Given the description of an element on the screen output the (x, y) to click on. 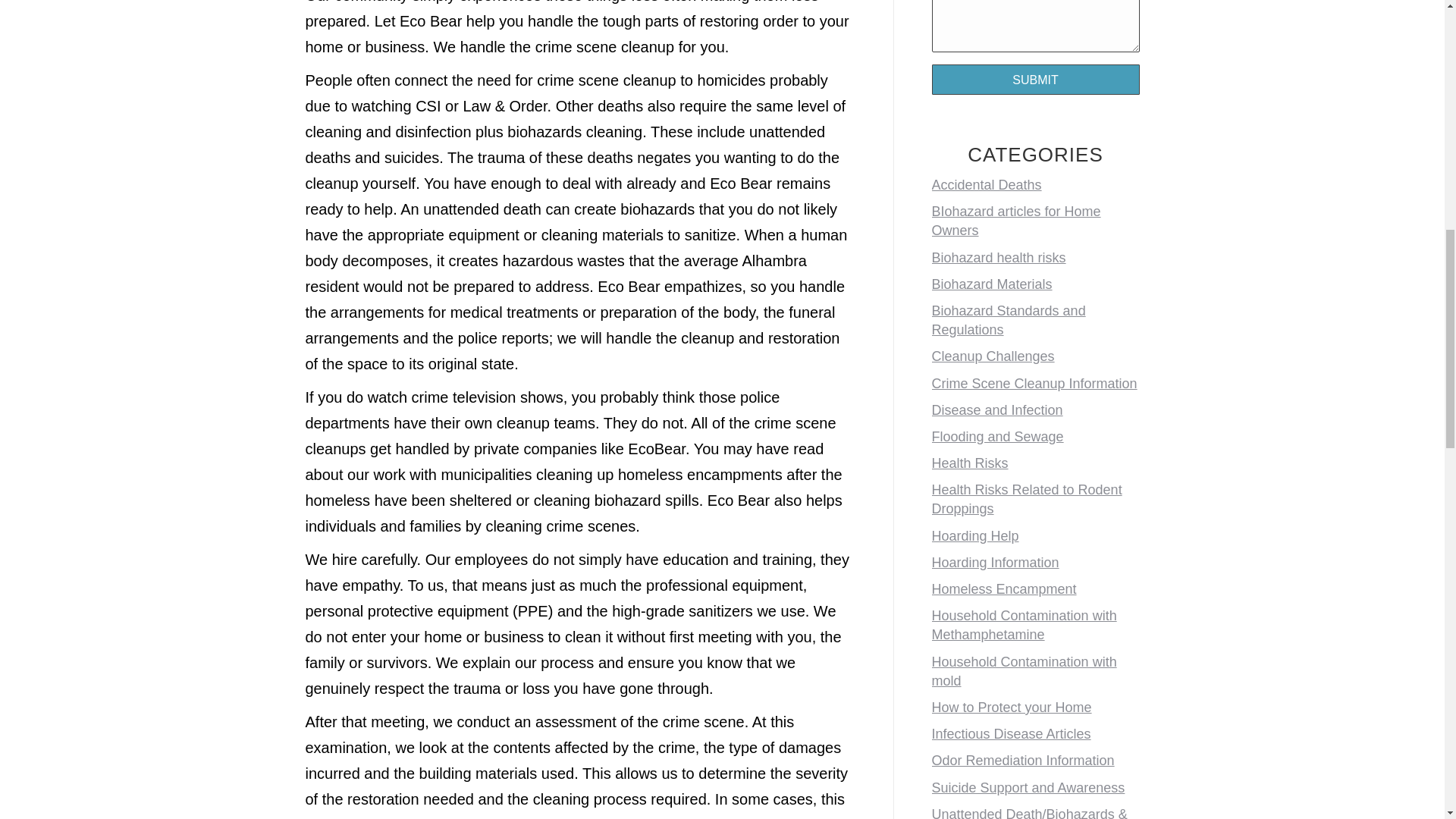
Submit (1034, 79)
